Given the description of an element on the screen output the (x, y) to click on. 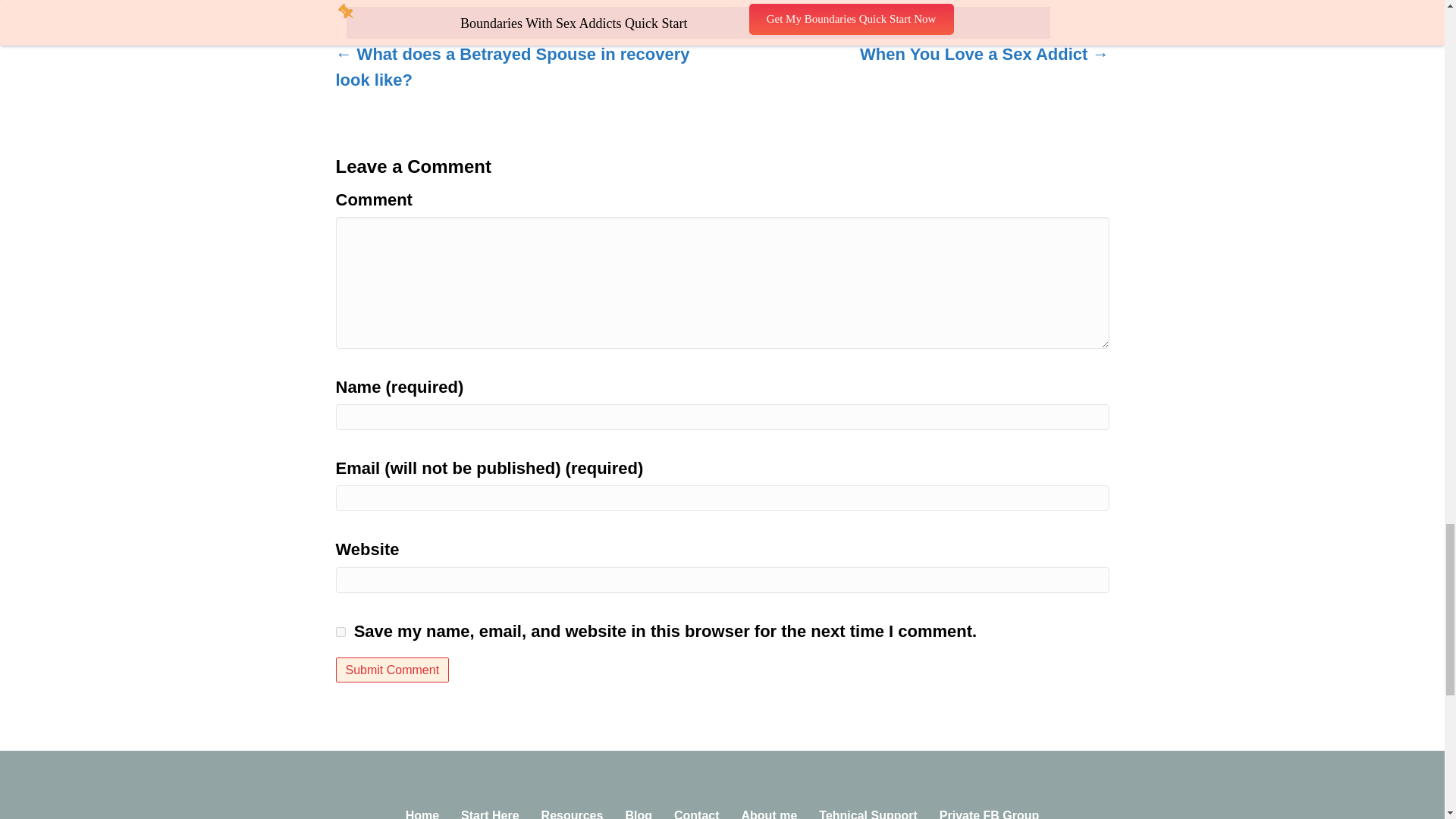
Submit Comment (391, 669)
Start Here (489, 807)
Resources (572, 807)
Blog (638, 807)
yes (339, 632)
Home (421, 807)
Submit Comment (391, 669)
